Given the description of an element on the screen output the (x, y) to click on. 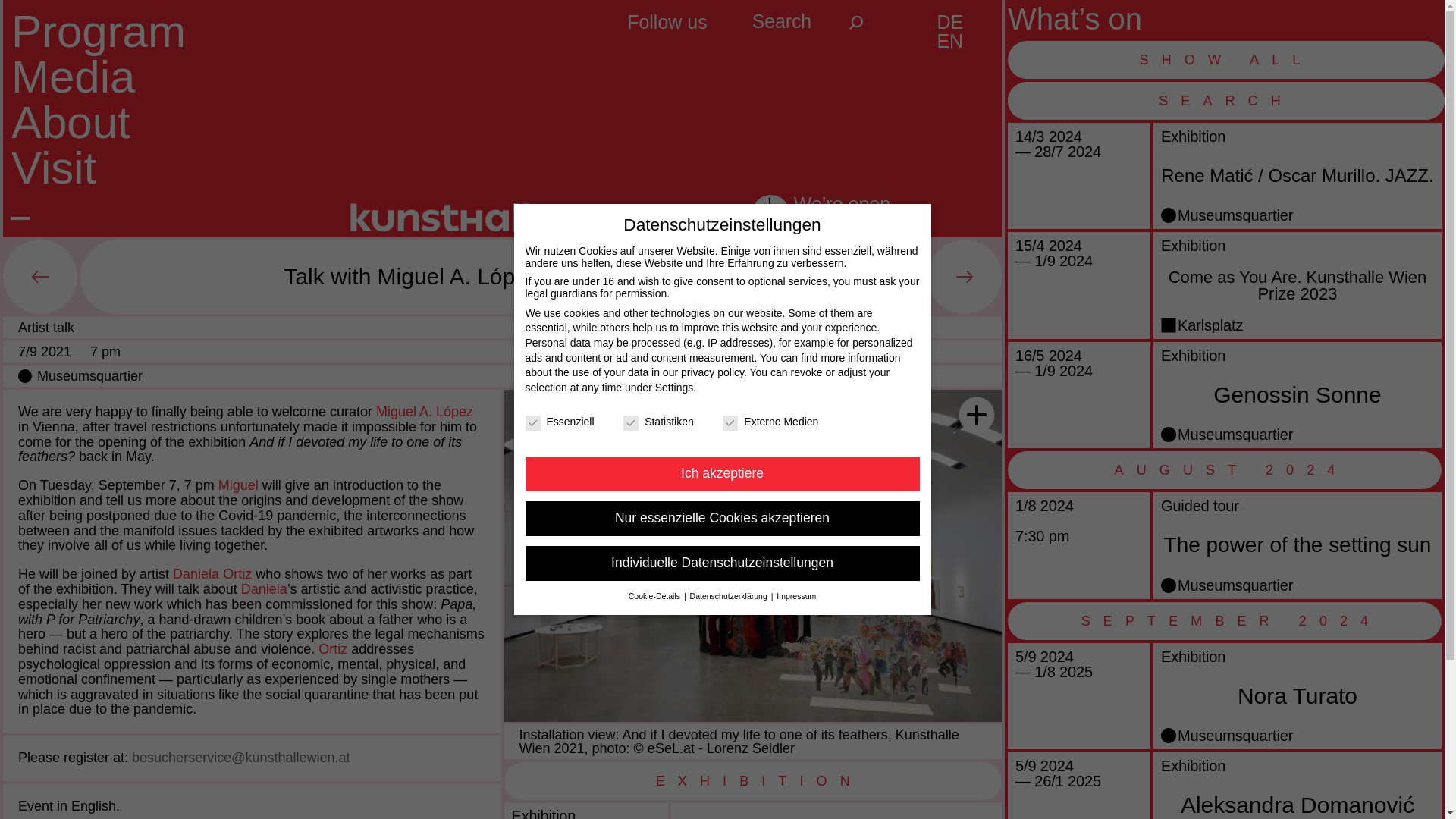
Program (98, 30)
Media (73, 76)
Visit (53, 167)
About (71, 122)
Thanks for reaching out (39, 276)
Thanks for reaching out (964, 276)
Search (854, 22)
